Given the description of an element on the screen output the (x, y) to click on. 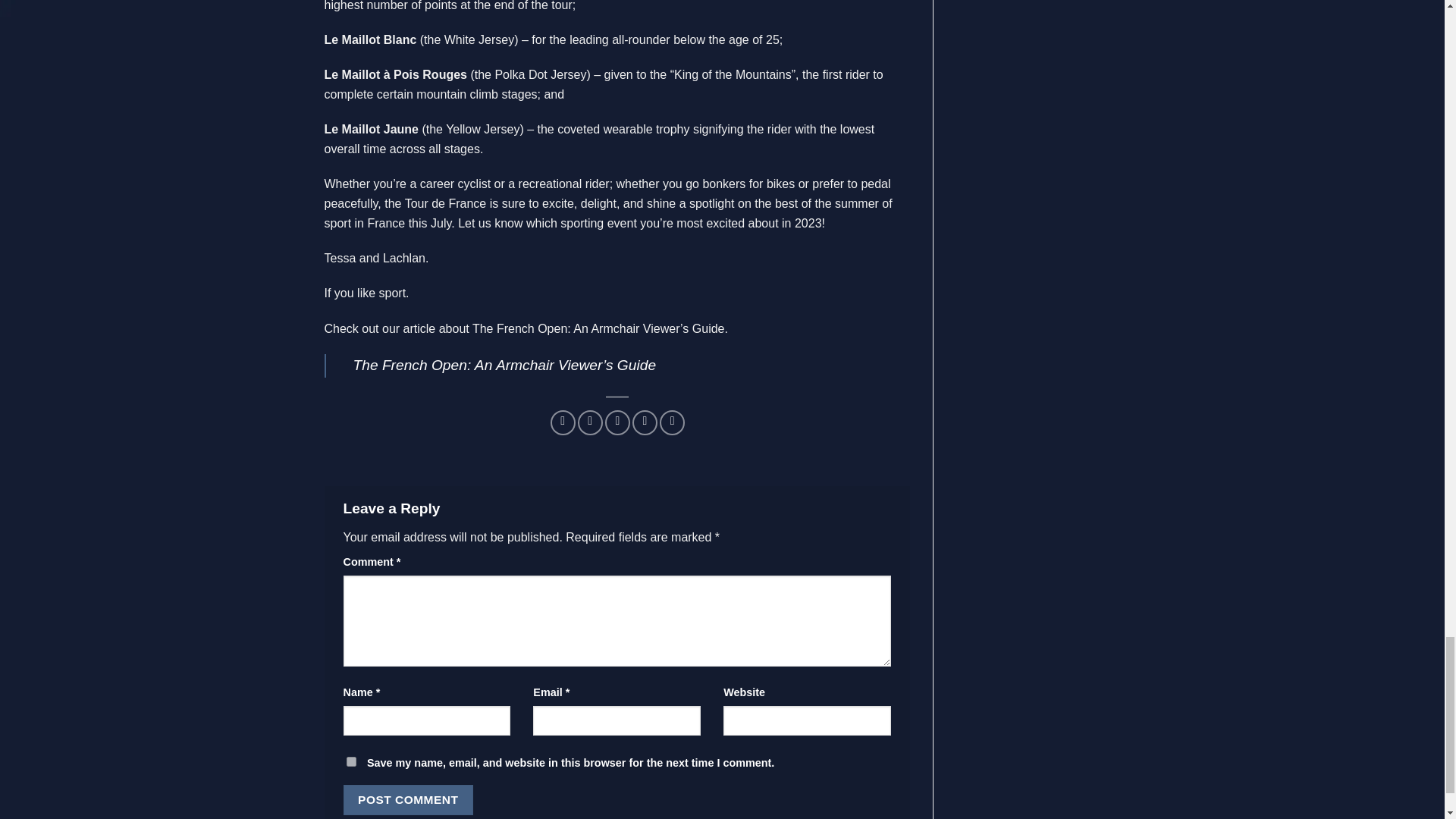
Share on Twitter (590, 422)
Share on Facebook (562, 422)
Post Comment (407, 799)
Share on LinkedIn (671, 422)
yes (350, 761)
Pin on Pinterest (644, 422)
Email to a Friend (617, 422)
Post Comment (407, 799)
